Given the description of an element on the screen output the (x, y) to click on. 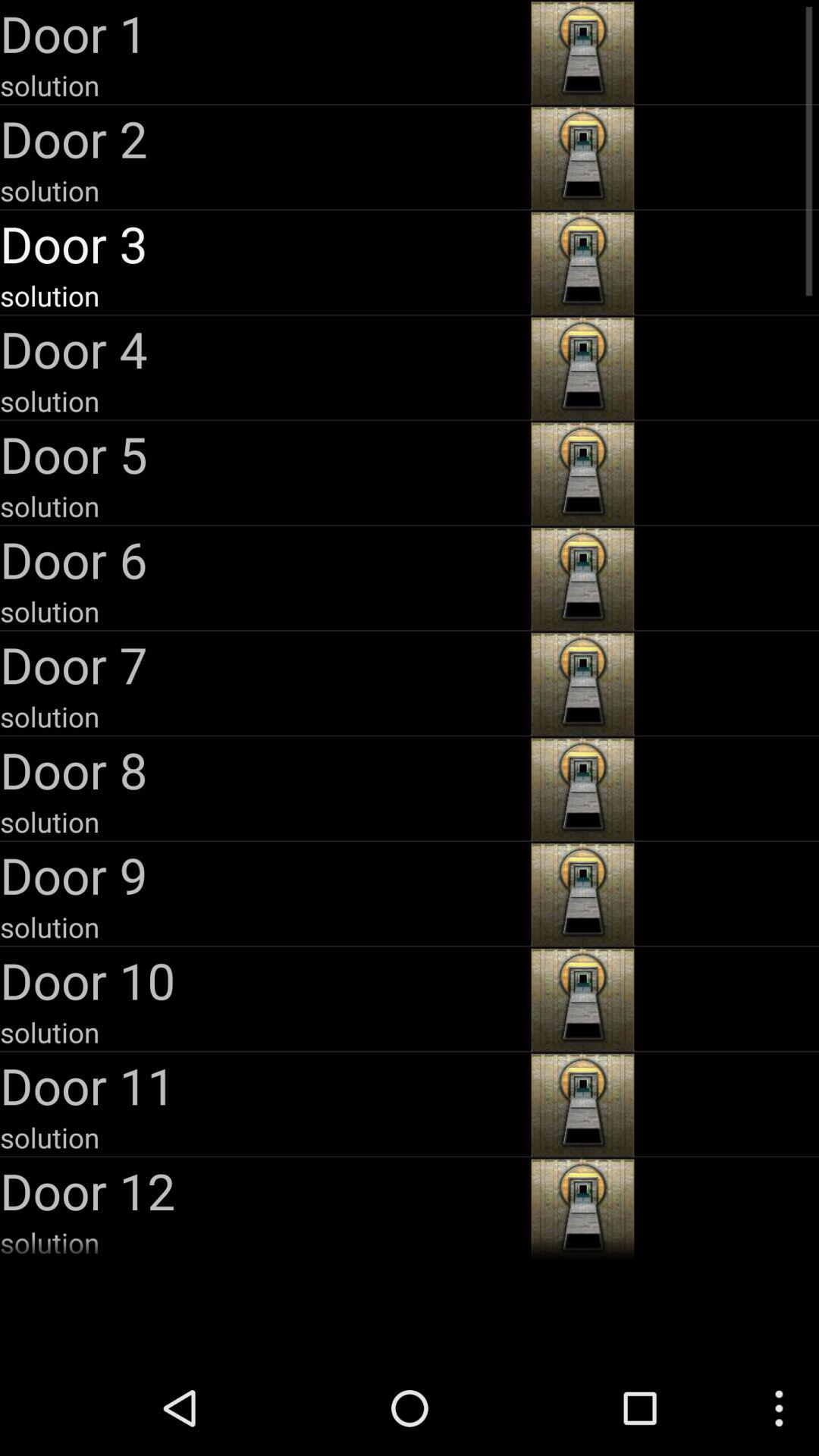
jump to the door 1 icon (263, 33)
